Given the description of an element on the screen output the (x, y) to click on. 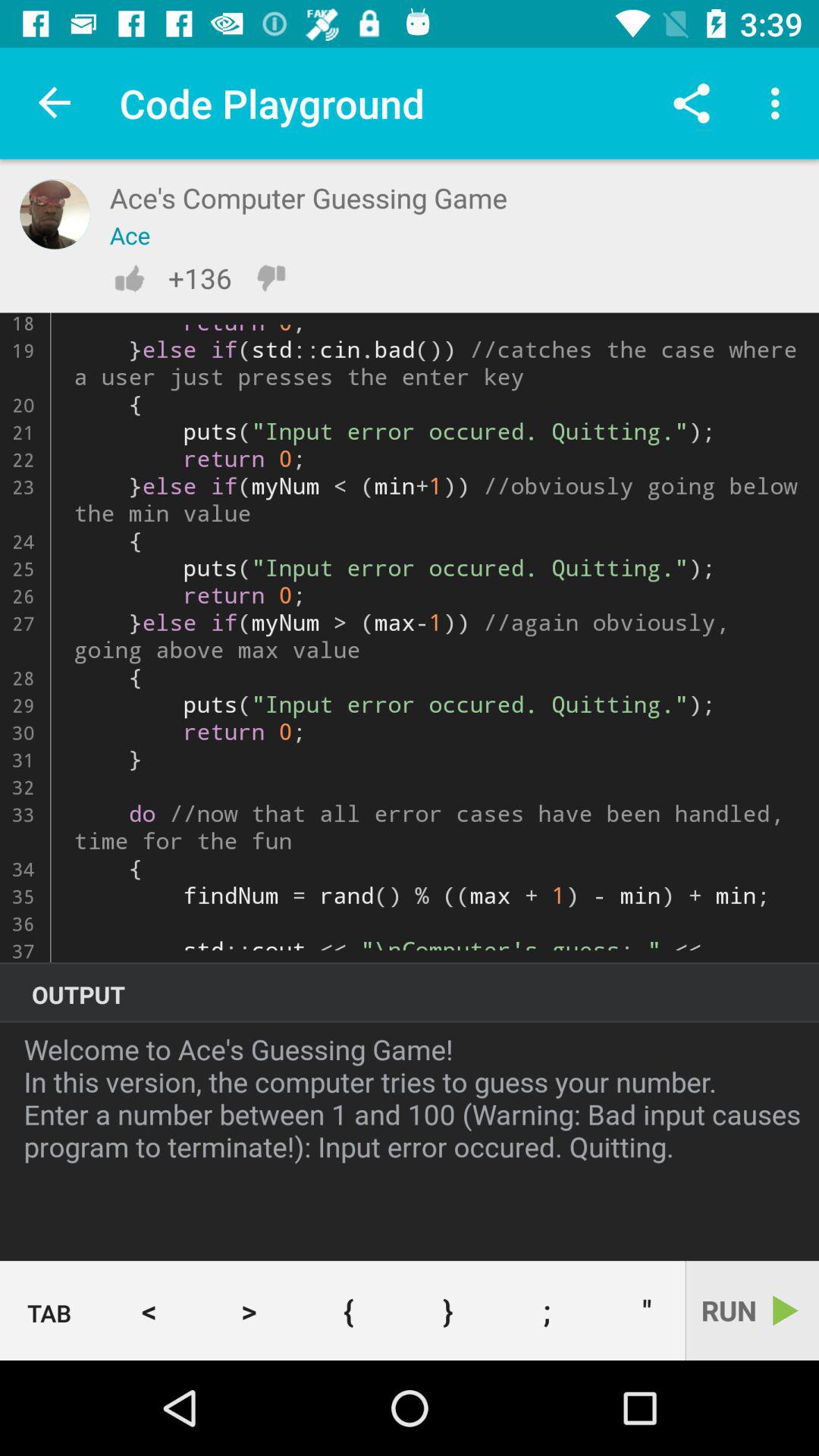
turn on icon below the welcome to ace icon (447, 1310)
